Given the description of an element on the screen output the (x, y) to click on. 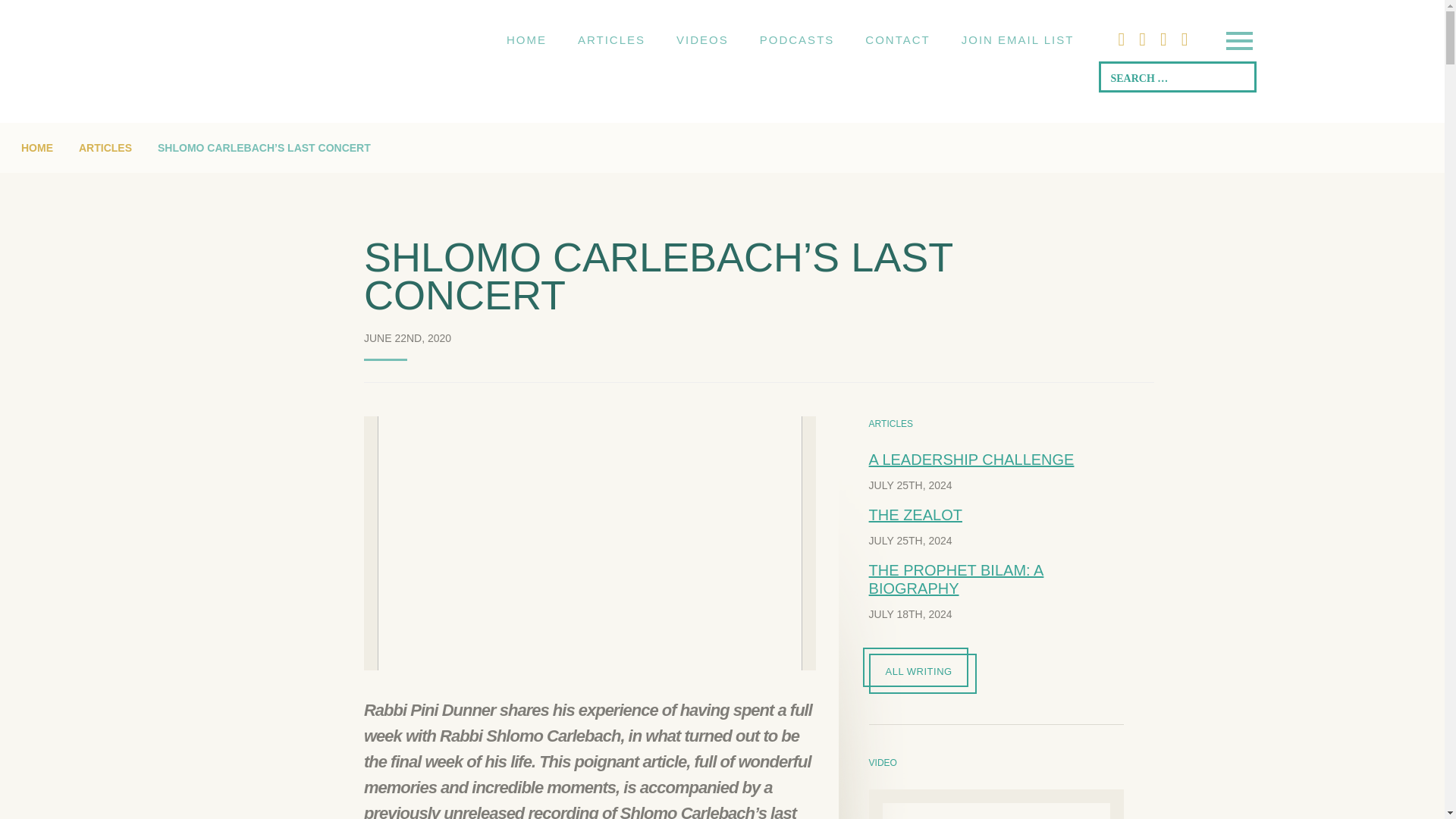
CONTACT (897, 40)
ARTICLES (104, 147)
VIDEOS (702, 40)
JOIN EMAIL LIST (1017, 40)
toggle menu (1238, 43)
HOME (526, 40)
ARTICLES (611, 40)
PODCASTS (796, 40)
Rabbi Pini Dunner (310, 40)
HOME (36, 147)
